Given the description of an element on the screen output the (x, y) to click on. 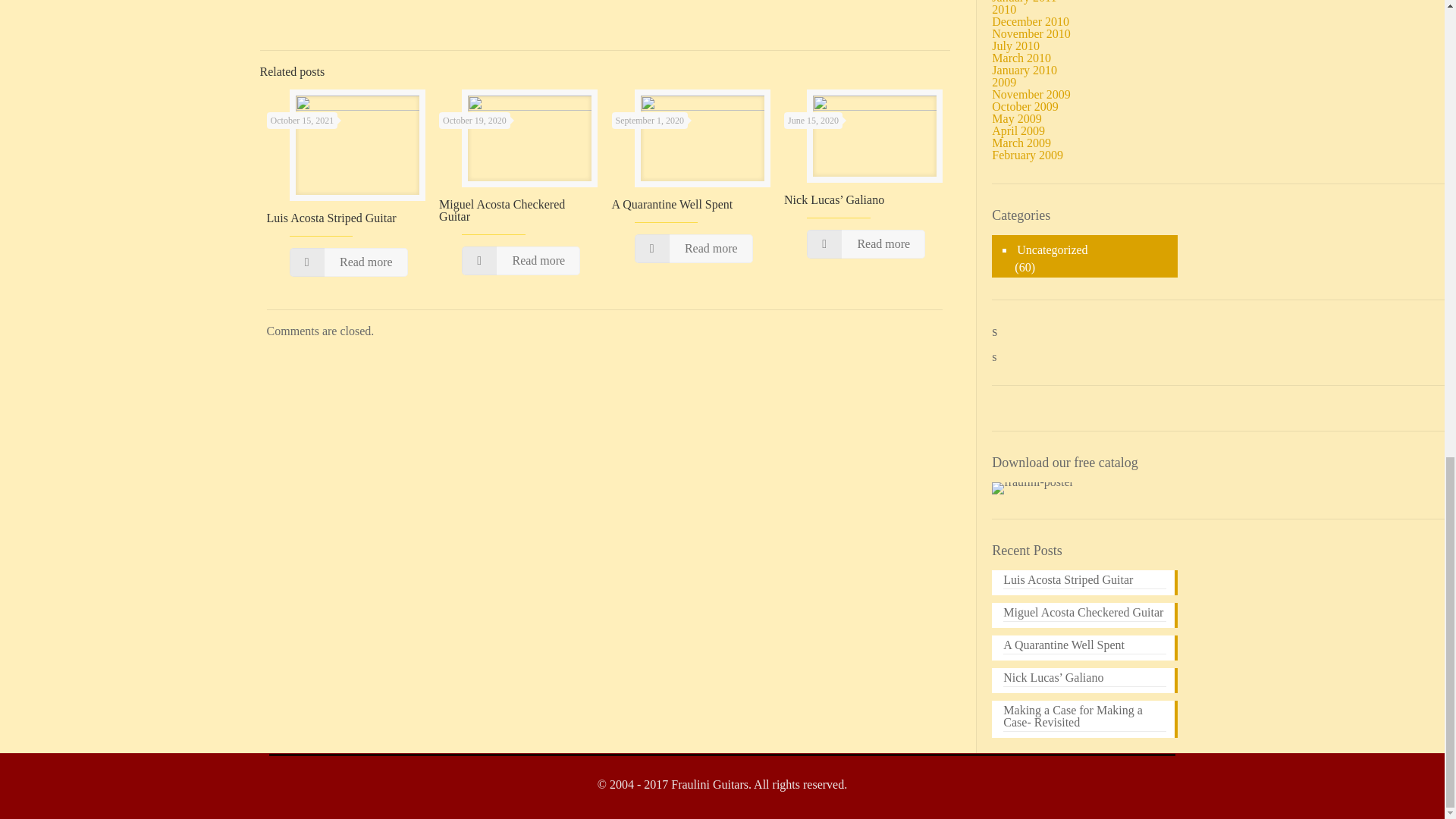
Luis Acosta Striped Guitar (331, 217)
Read more (348, 262)
